Given the description of an element on the screen output the (x, y) to click on. 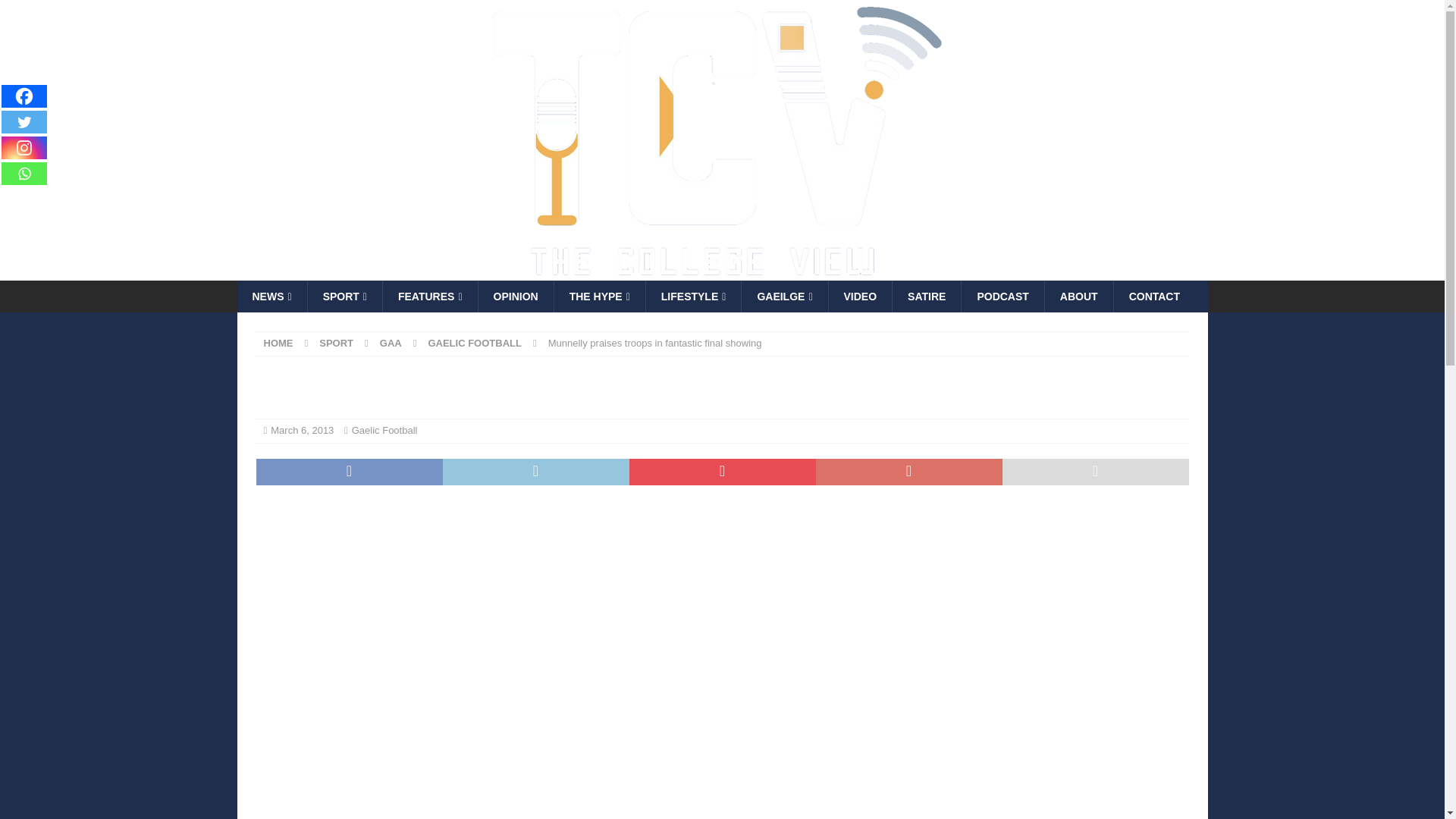
Gaelic Football (384, 430)
GAEILGE (784, 296)
VIDEO (860, 296)
SATIRE (925, 296)
The College View (683, 272)
FEATURES (429, 296)
ABOUT (1078, 296)
Whatsapp (23, 173)
GAA (390, 342)
March 6, 2013 (301, 430)
